Given the description of an element on the screen output the (x, y) to click on. 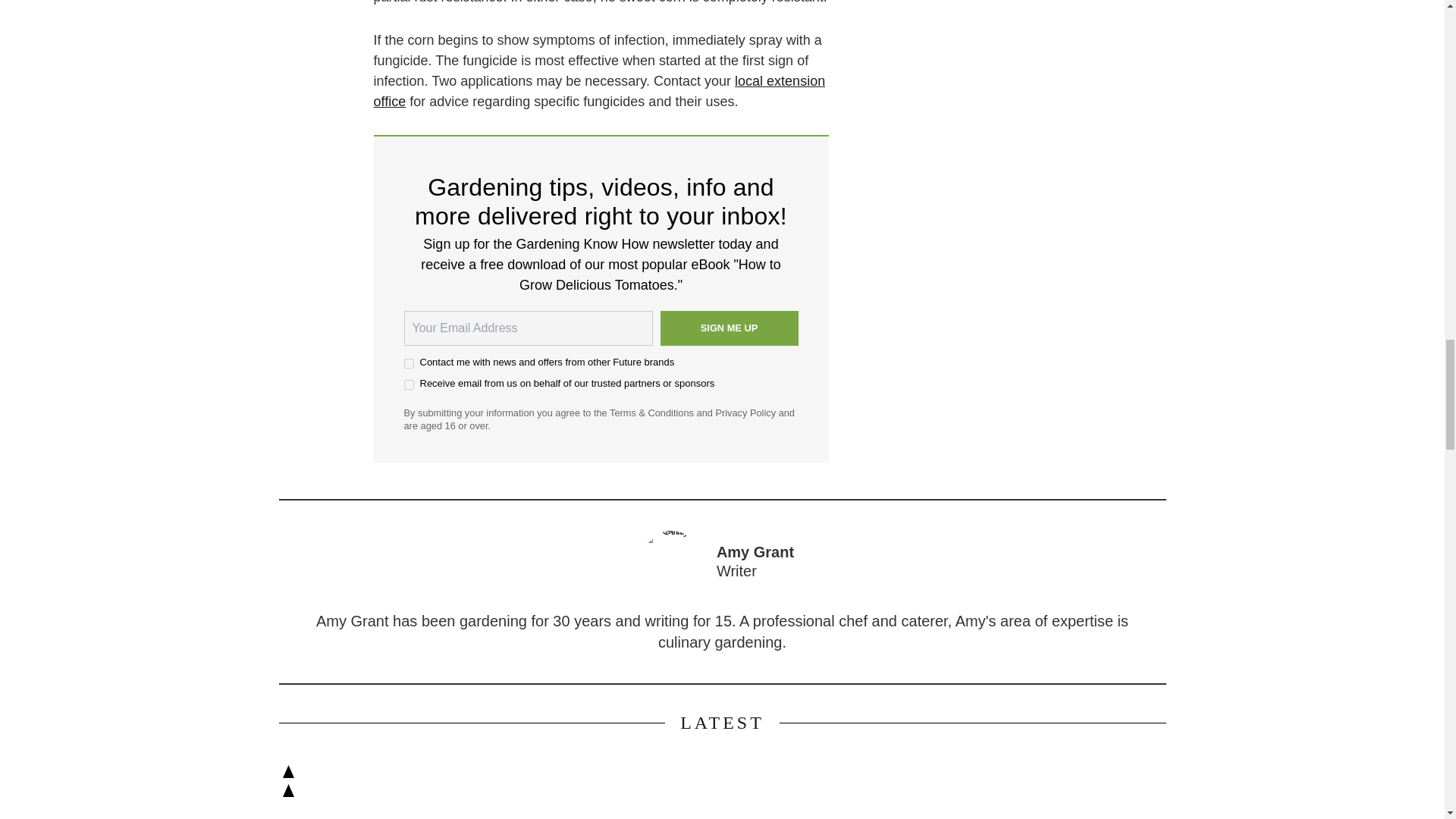
Sign me up (728, 328)
on (408, 363)
on (408, 384)
